Given the description of an element on the screen output the (x, y) to click on. 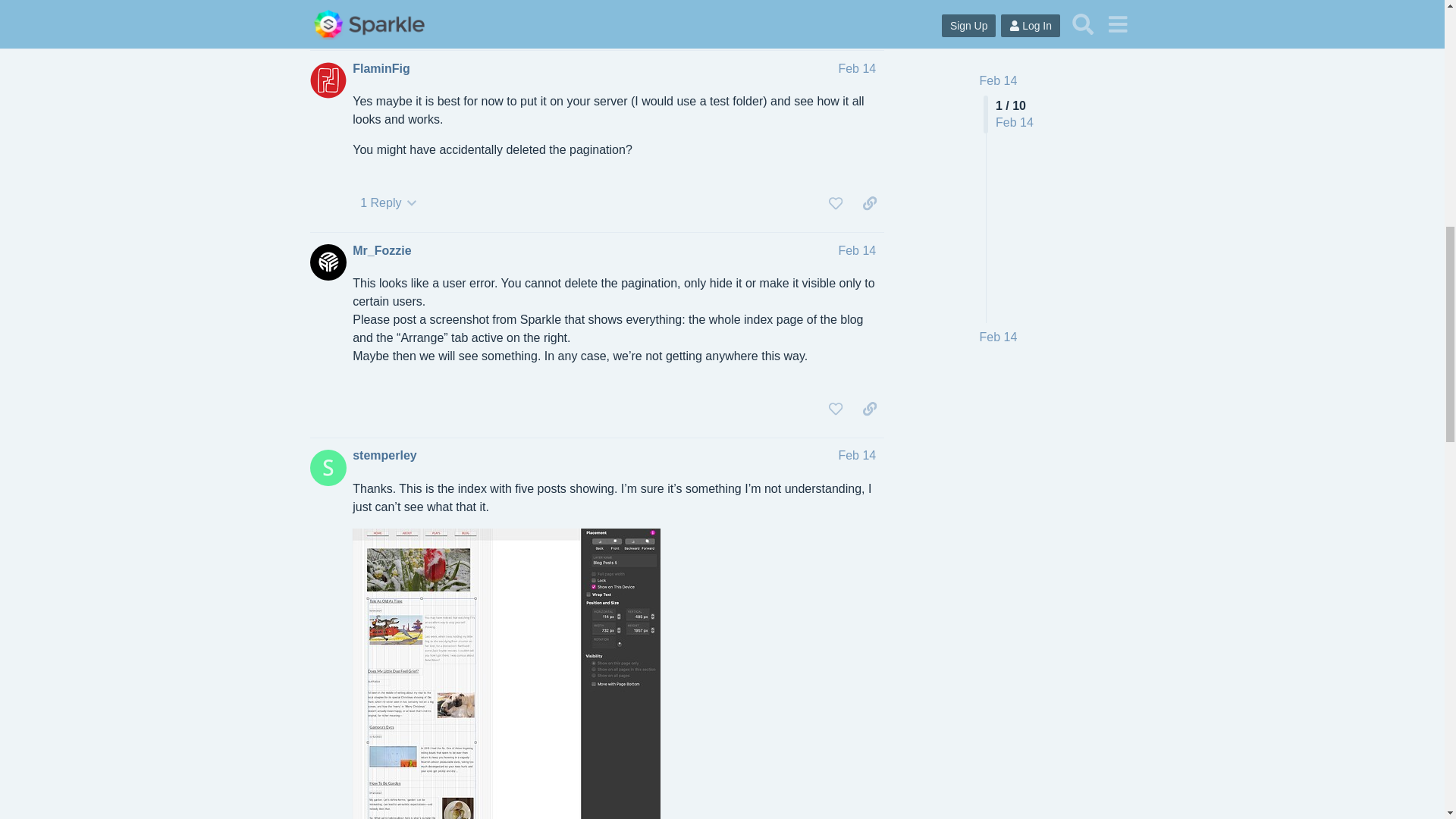
Feb 14 (857, 68)
FlaminFig (381, 68)
1 Reply (387, 203)
